Given the description of an element on the screen output the (x, y) to click on. 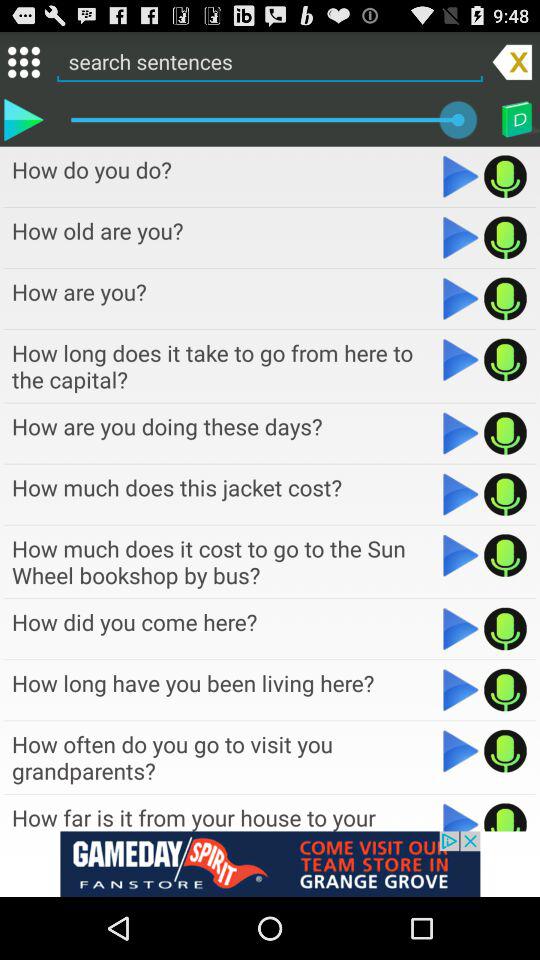
toggle autoplay option (460, 359)
